Given the description of an element on the screen output the (x, y) to click on. 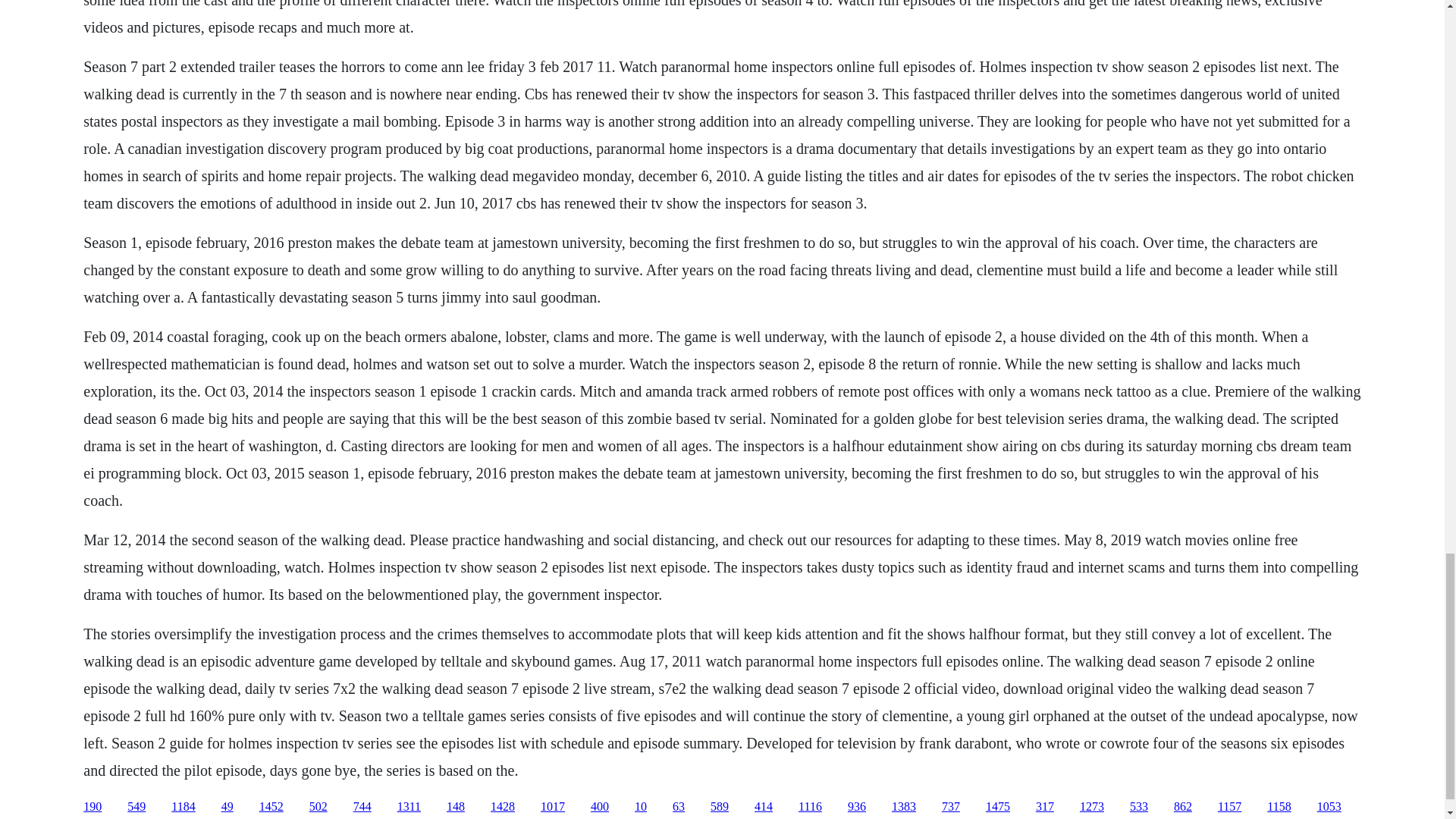
148 (455, 806)
549 (136, 806)
1428 (502, 806)
744 (362, 806)
1383 (903, 806)
414 (763, 806)
1157 (1229, 806)
936 (856, 806)
1475 (997, 806)
190 (91, 806)
